Given the description of an element on the screen output the (x, y) to click on. 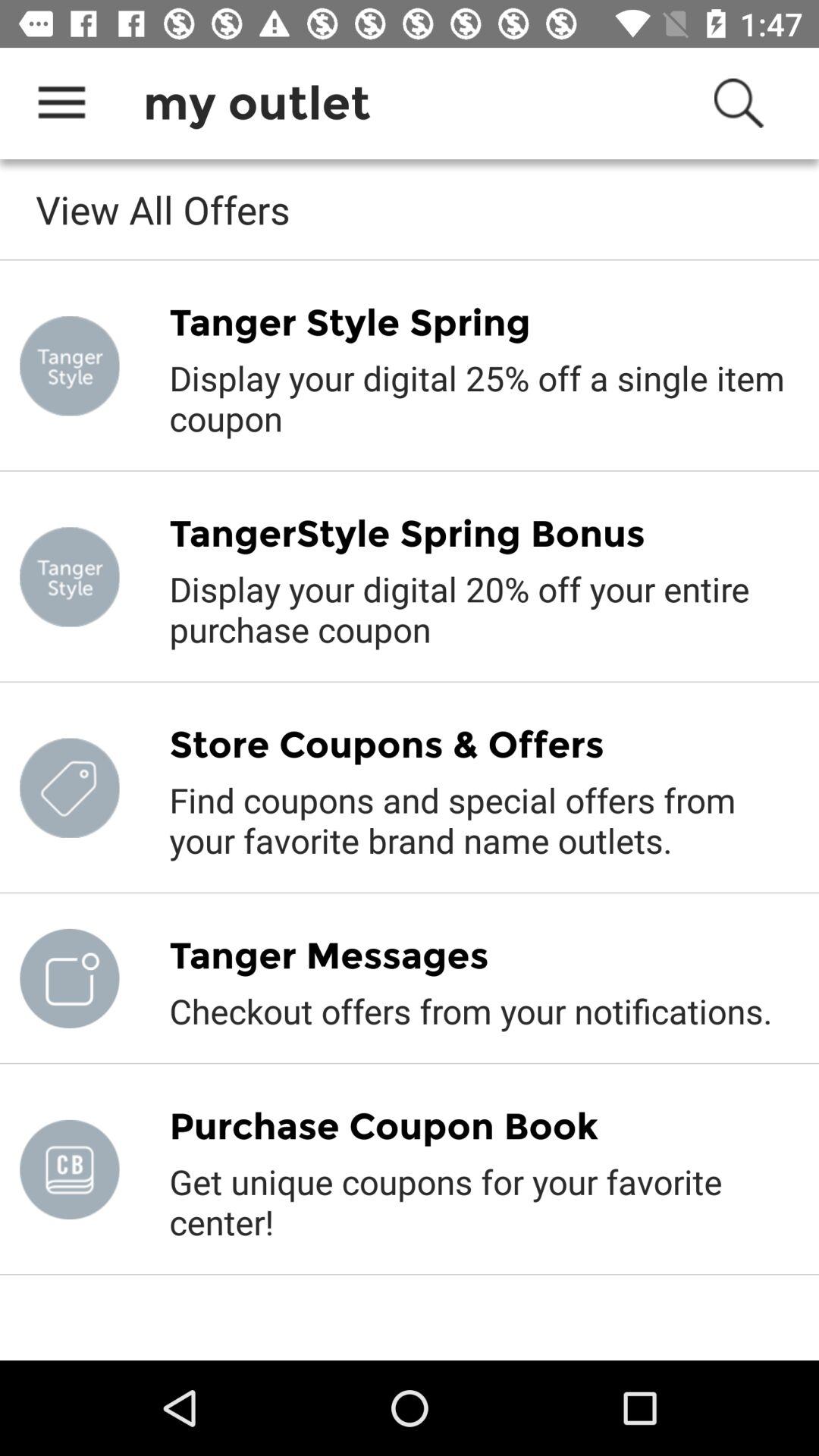
open the item to the left of my outlet item (61, 103)
